Given the description of an element on the screen output the (x, y) to click on. 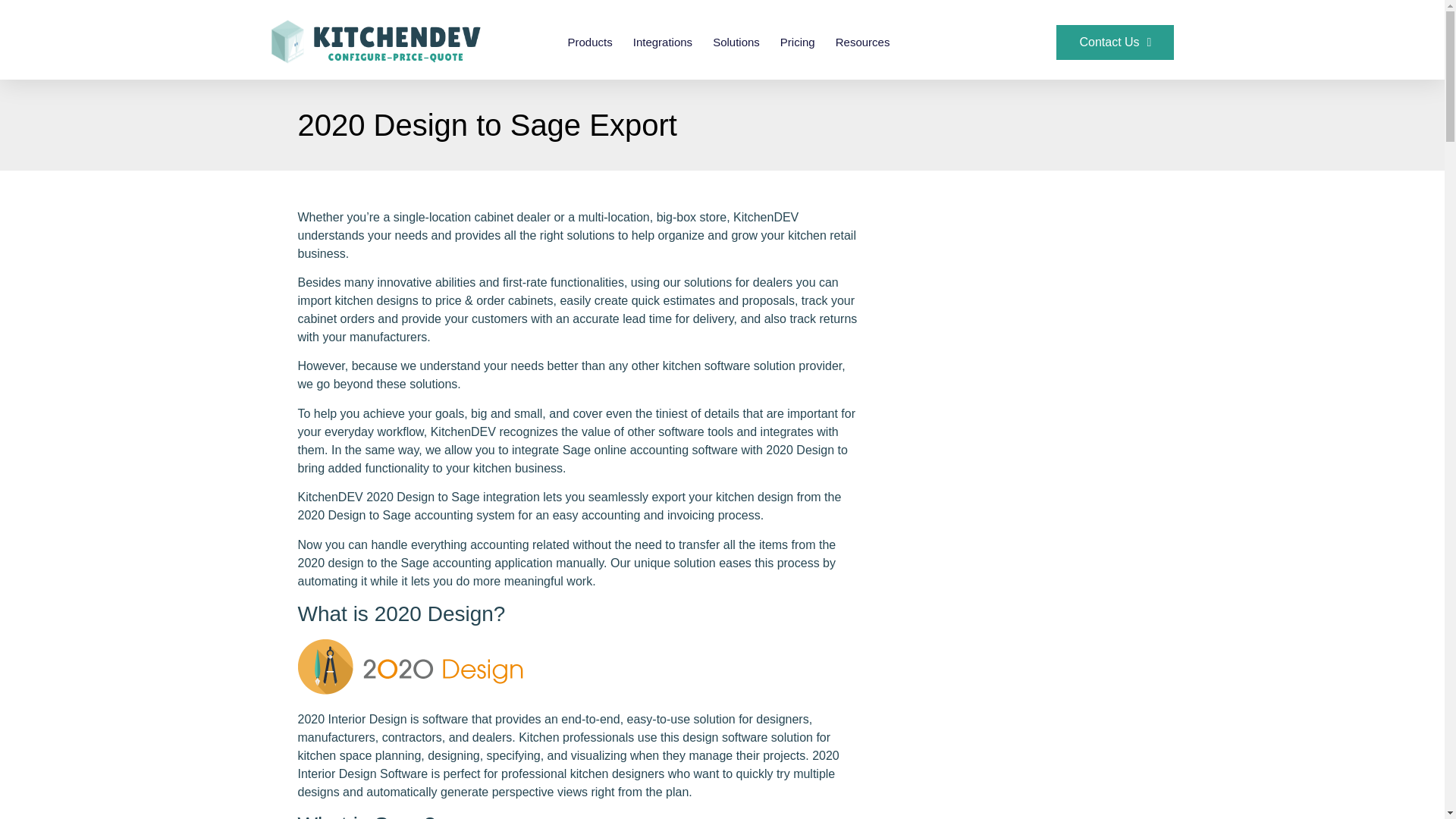
Resources (862, 42)
Solutions (736, 42)
Pricing (797, 42)
Integrations (663, 42)
Contact Us (1115, 42)
Products (589, 42)
